Given the description of an element on the screen output the (x, y) to click on. 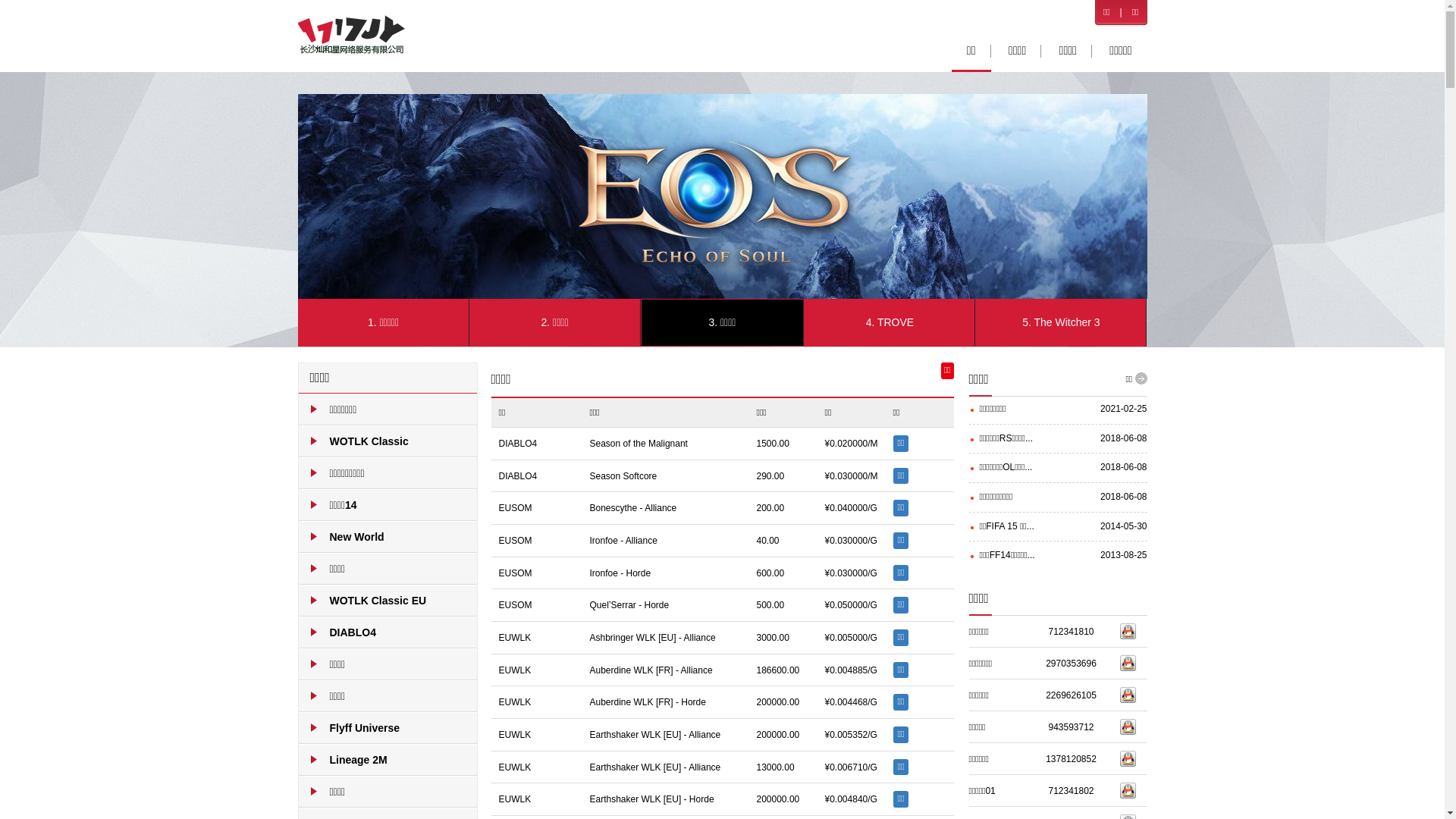
Flyff Universe Element type: text (387, 727)
Lineage 2M Element type: text (387, 759)
WOTLK Classic EU Element type: text (387, 600)
DIABLO4 Element type: text (387, 632)
New World Element type: text (387, 536)
WOTLK Classic Element type: text (387, 441)
